Given the description of an element on the screen output the (x, y) to click on. 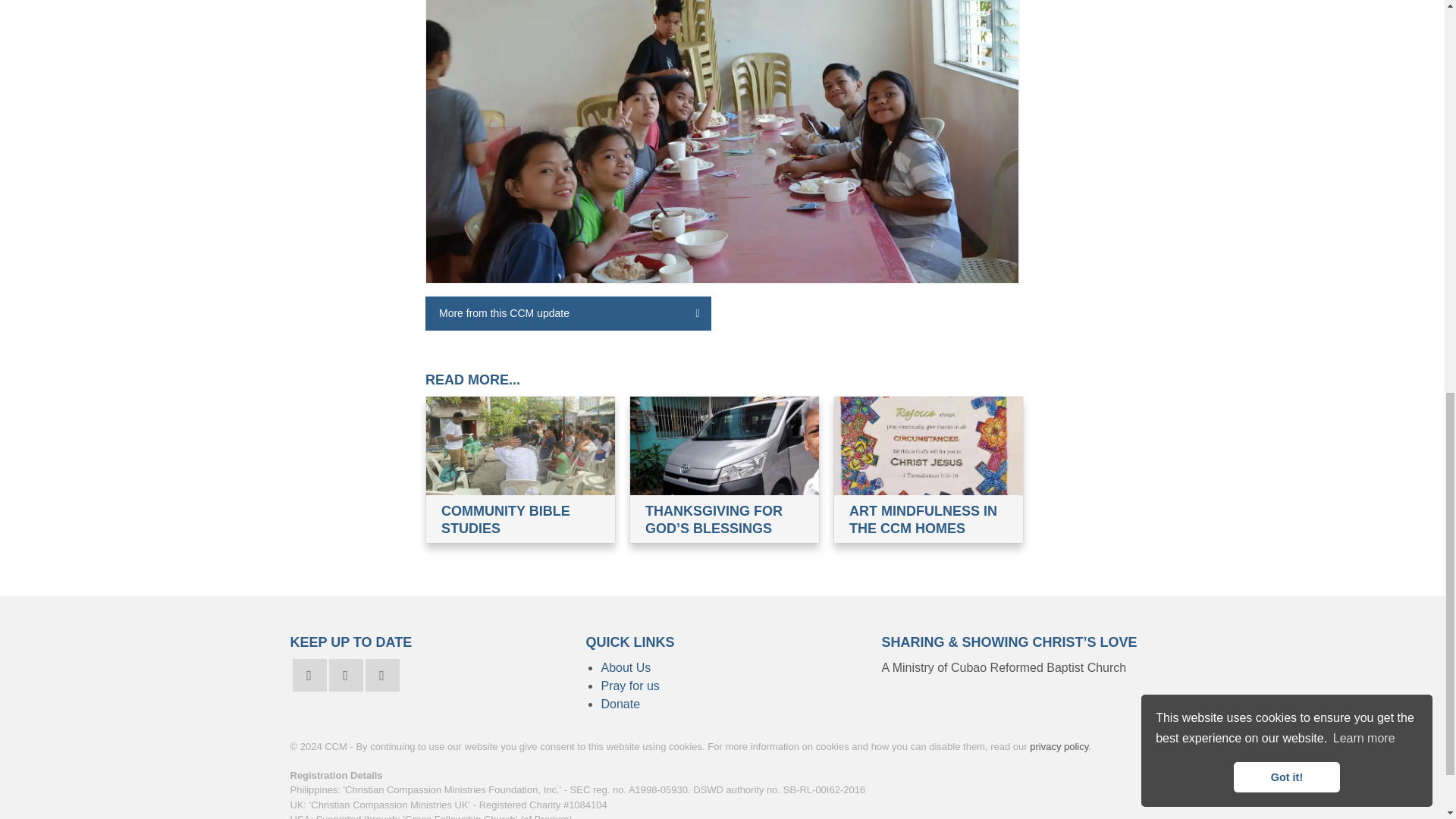
More from this CCM update (568, 313)
